Given the description of an element on the screen output the (x, y) to click on. 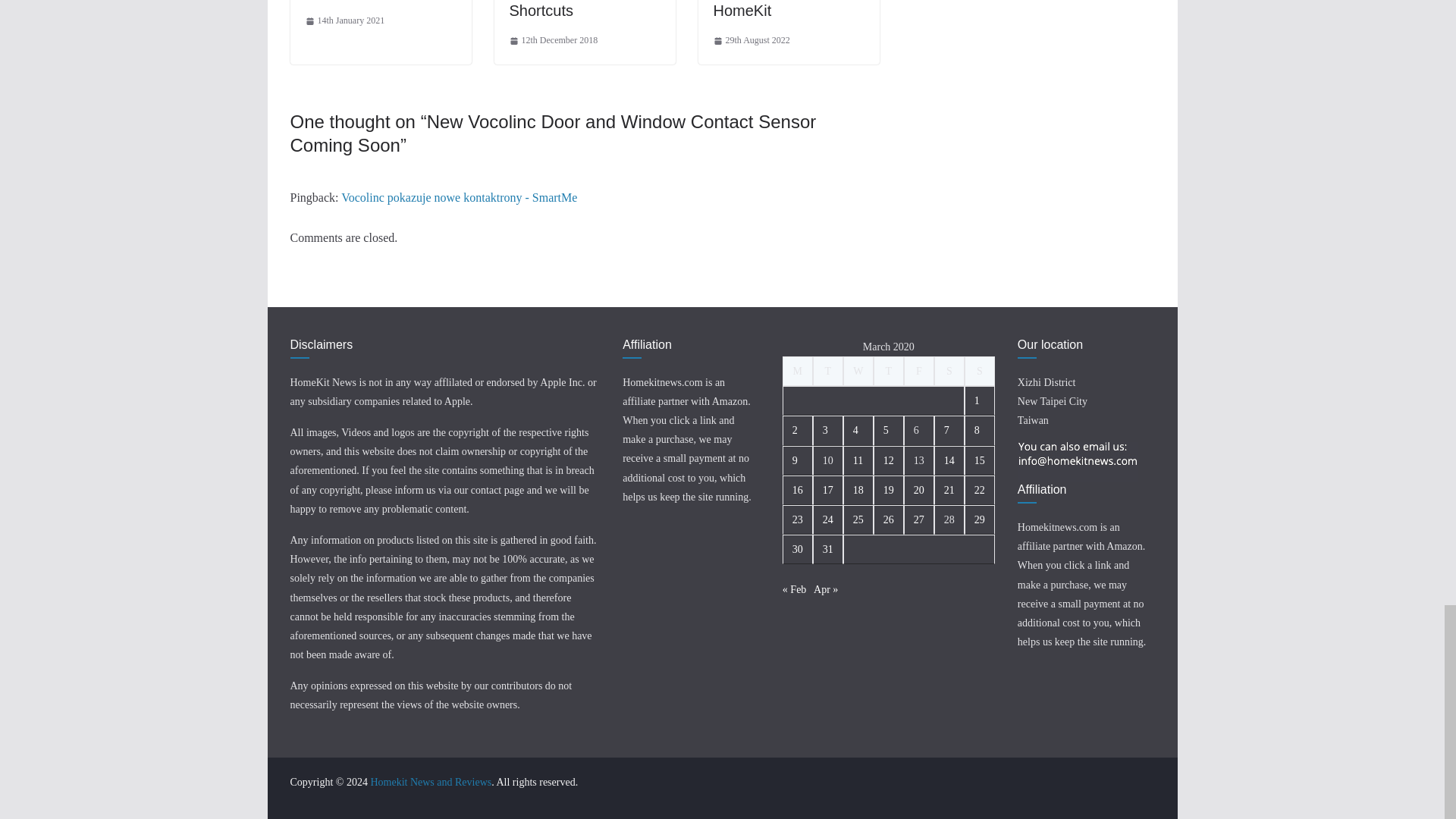
9:08 pm (751, 40)
9:34 am (553, 40)
TP-Link Unveils EU Tapo Power Strip for HomeKit (781, 9)
6:02 pm (344, 21)
